Given the description of an element on the screen output the (x, y) to click on. 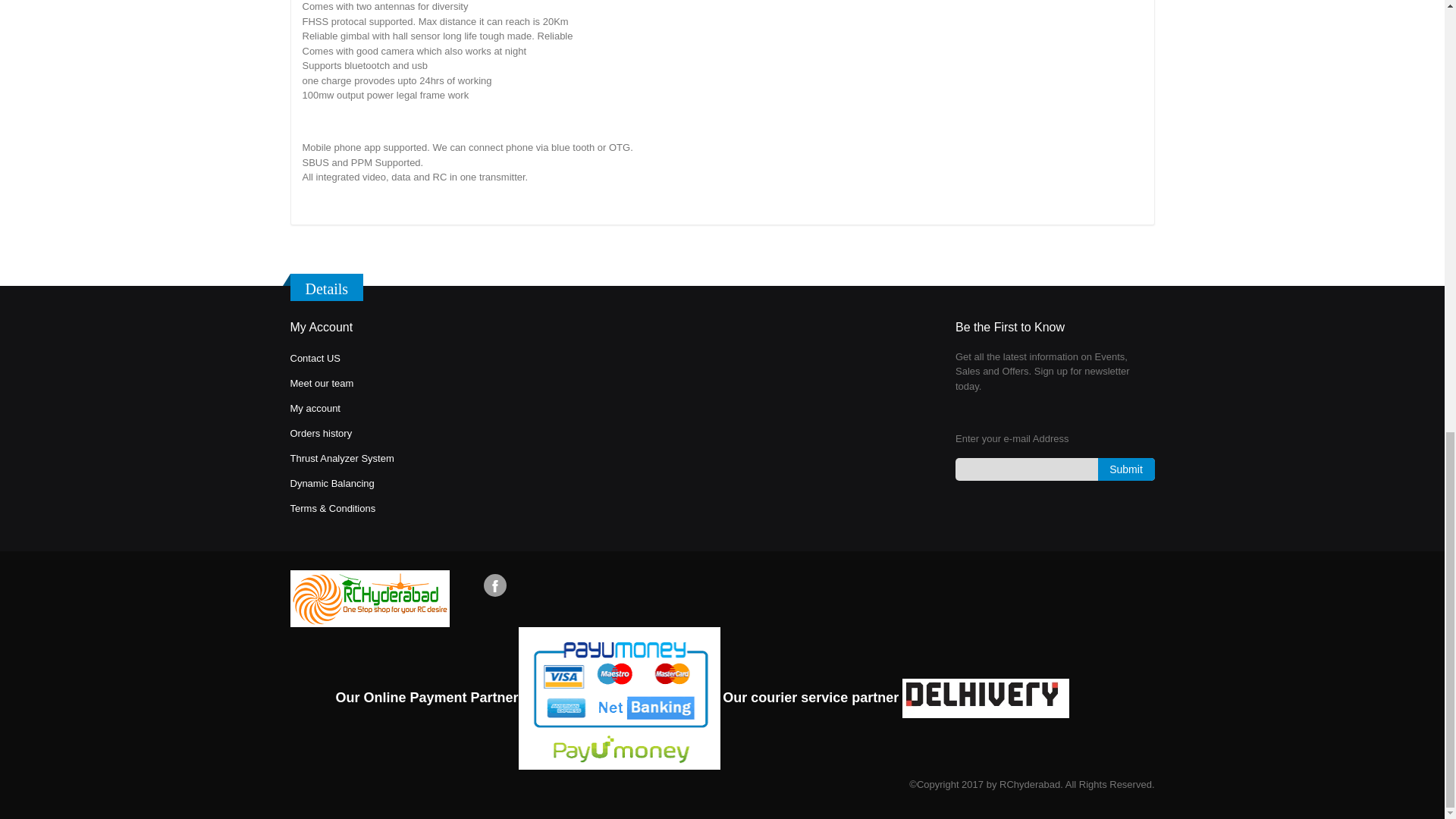
About us (314, 357)
3D Modelling Designing Hyderabad (332, 508)
Meet our Team (321, 383)
Orders history (320, 432)
Sign up for our newsletter (1054, 468)
My account (314, 408)
